Given the description of an element on the screen output the (x, y) to click on. 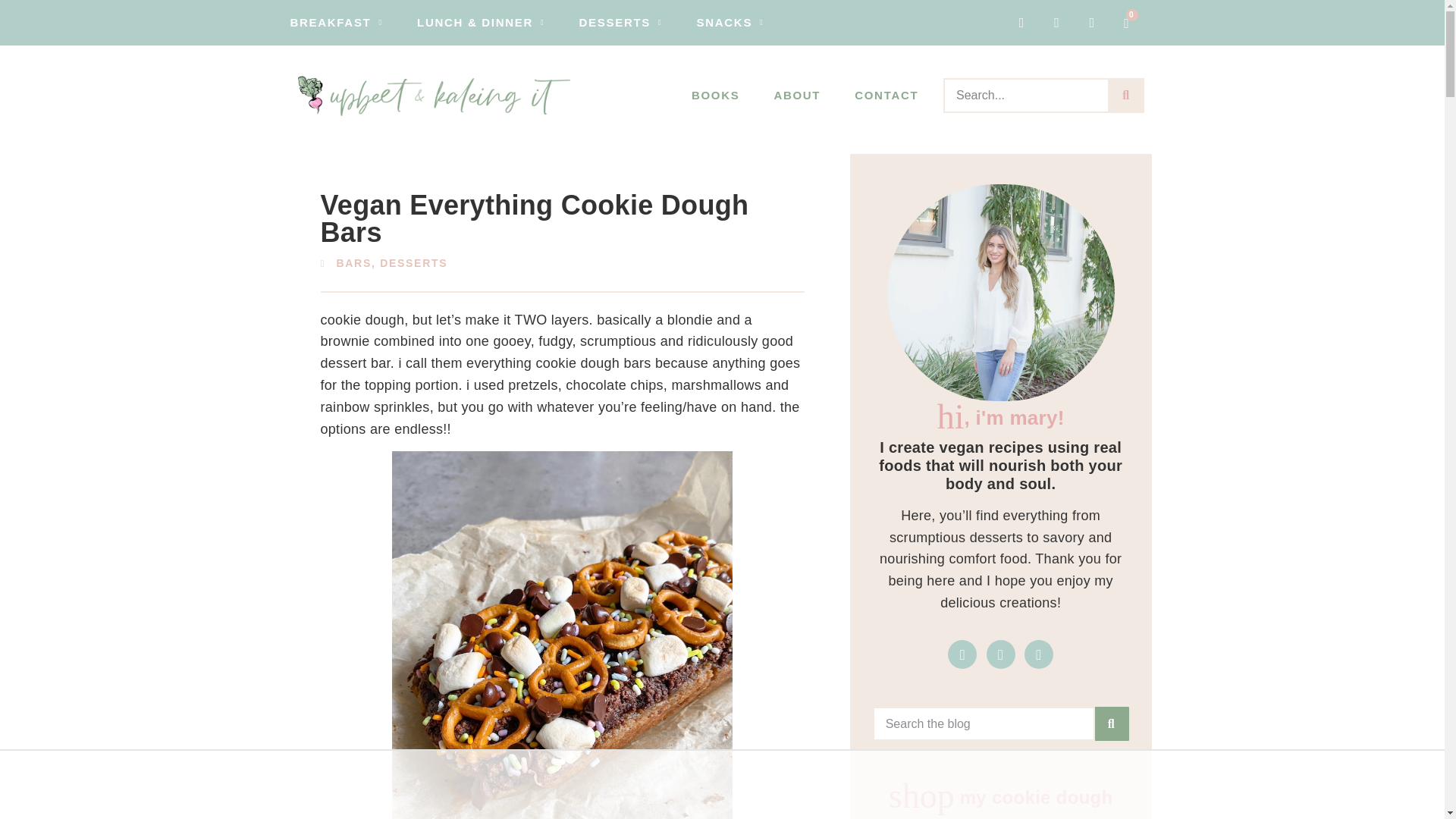
DESSERTS (620, 22)
SNACKS (730, 22)
BREAKFAST (335, 22)
